Given the description of an element on the screen output the (x, y) to click on. 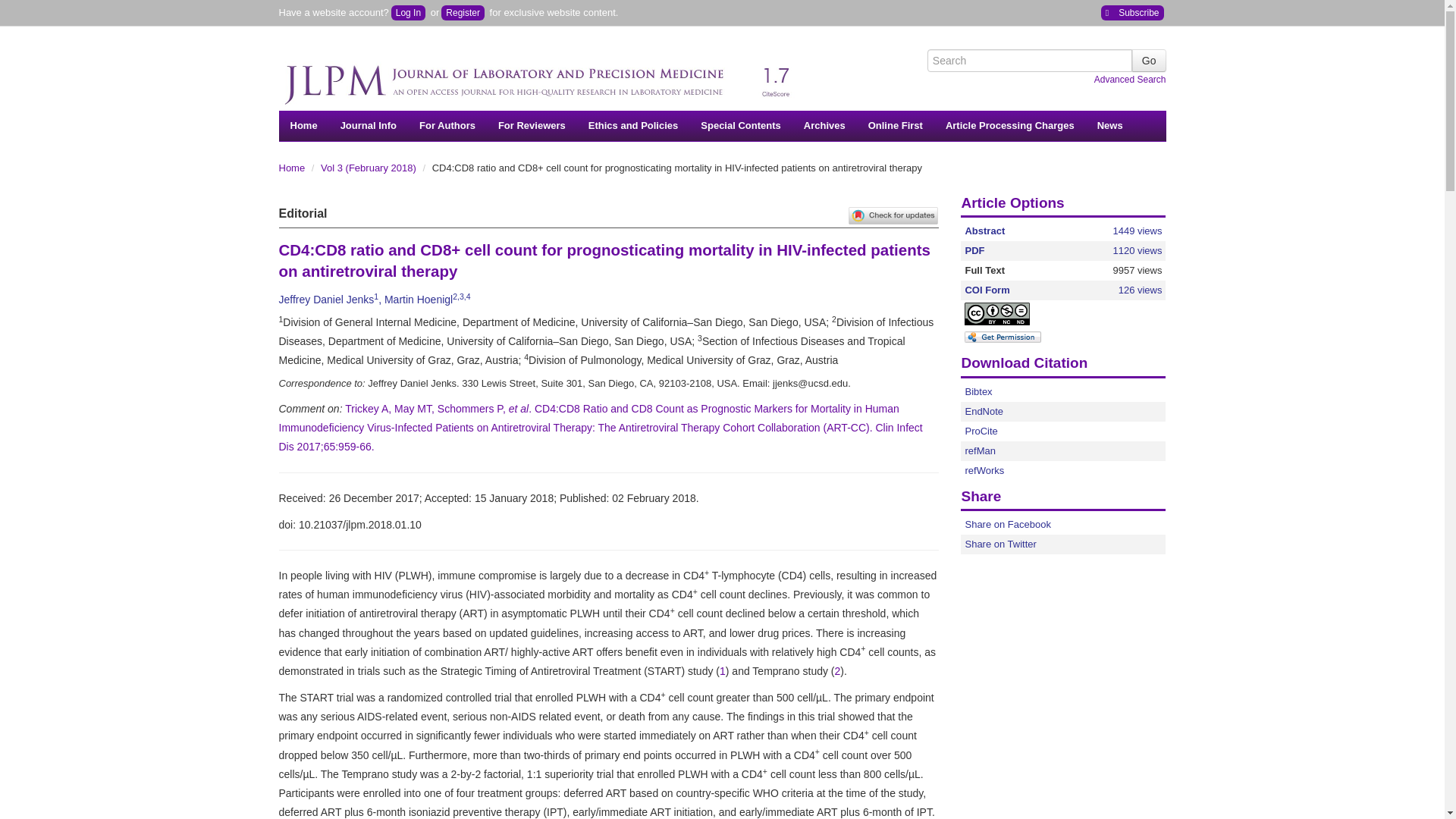
Log In (408, 12)
Subscribe (1131, 12)
License (1009, 313)
Journal of Laboratory and Precision Medicine (544, 76)
Advanced Search (1130, 79)
License (996, 313)
Journal Info (368, 125)
Ethics and Policies (633, 125)
For Authors (446, 125)
Go (1149, 60)
 Subscribe (1131, 12)
For Reviewers (531, 125)
Register (462, 12)
Home (304, 125)
Go (1149, 60)
